Given the description of an element on the screen output the (x, y) to click on. 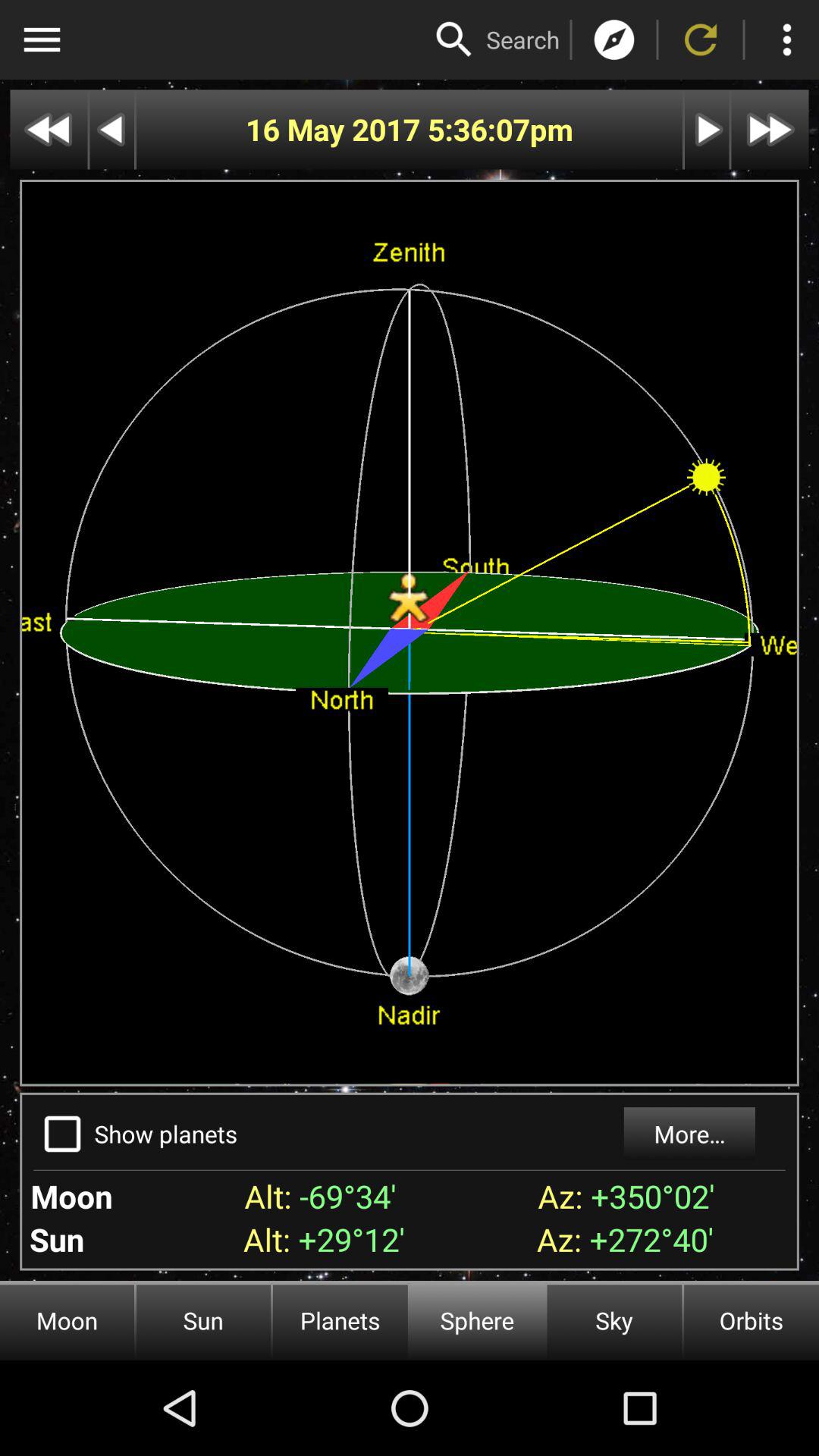
select option menu (41, 39)
